Given the description of an element on the screen output the (x, y) to click on. 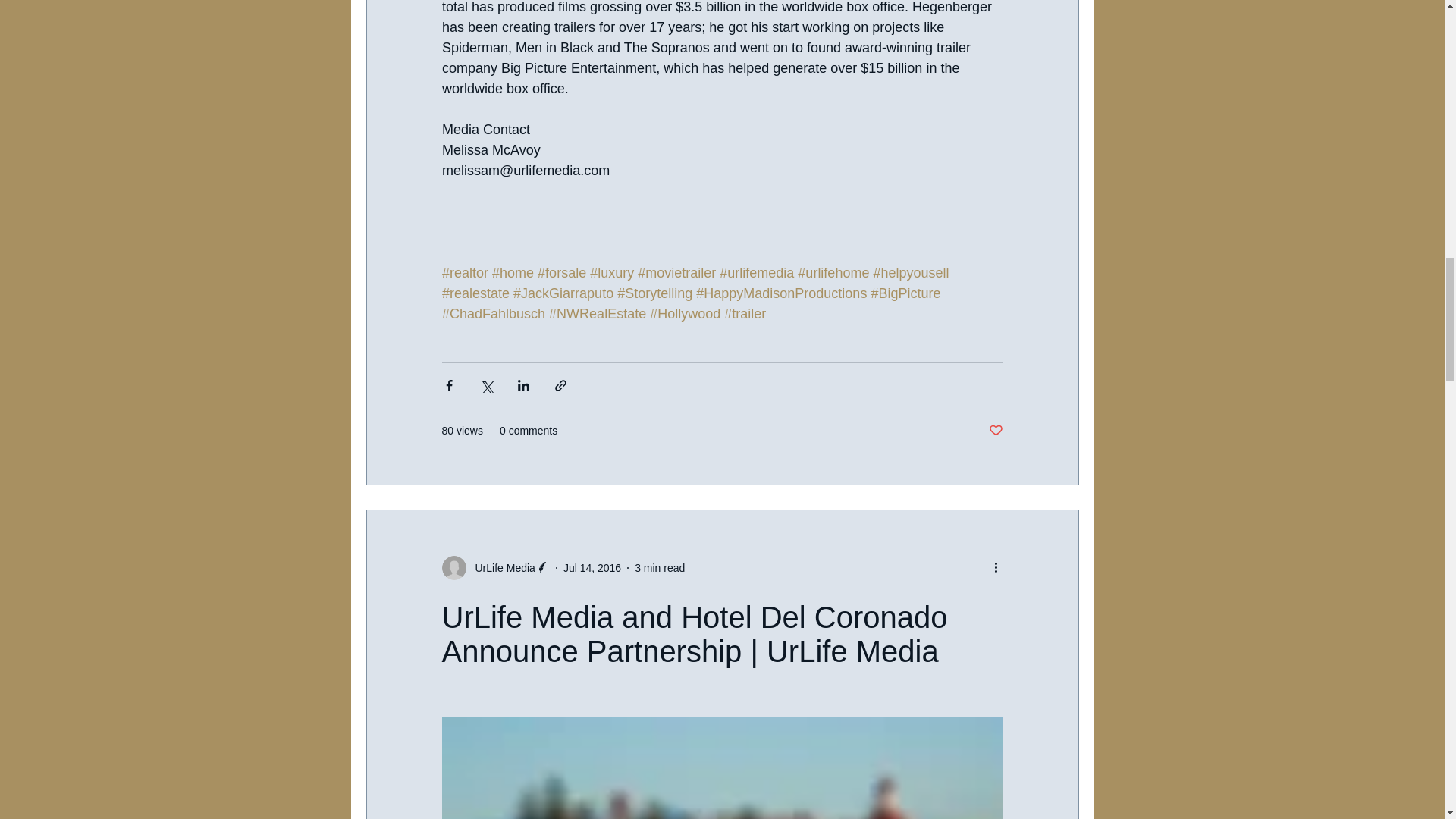
3 min read (659, 567)
UrLife Media (499, 567)
Jul 14, 2016 (592, 567)
Post not marked as liked (995, 430)
0 comments (528, 430)
